Given the description of an element on the screen output the (x, y) to click on. 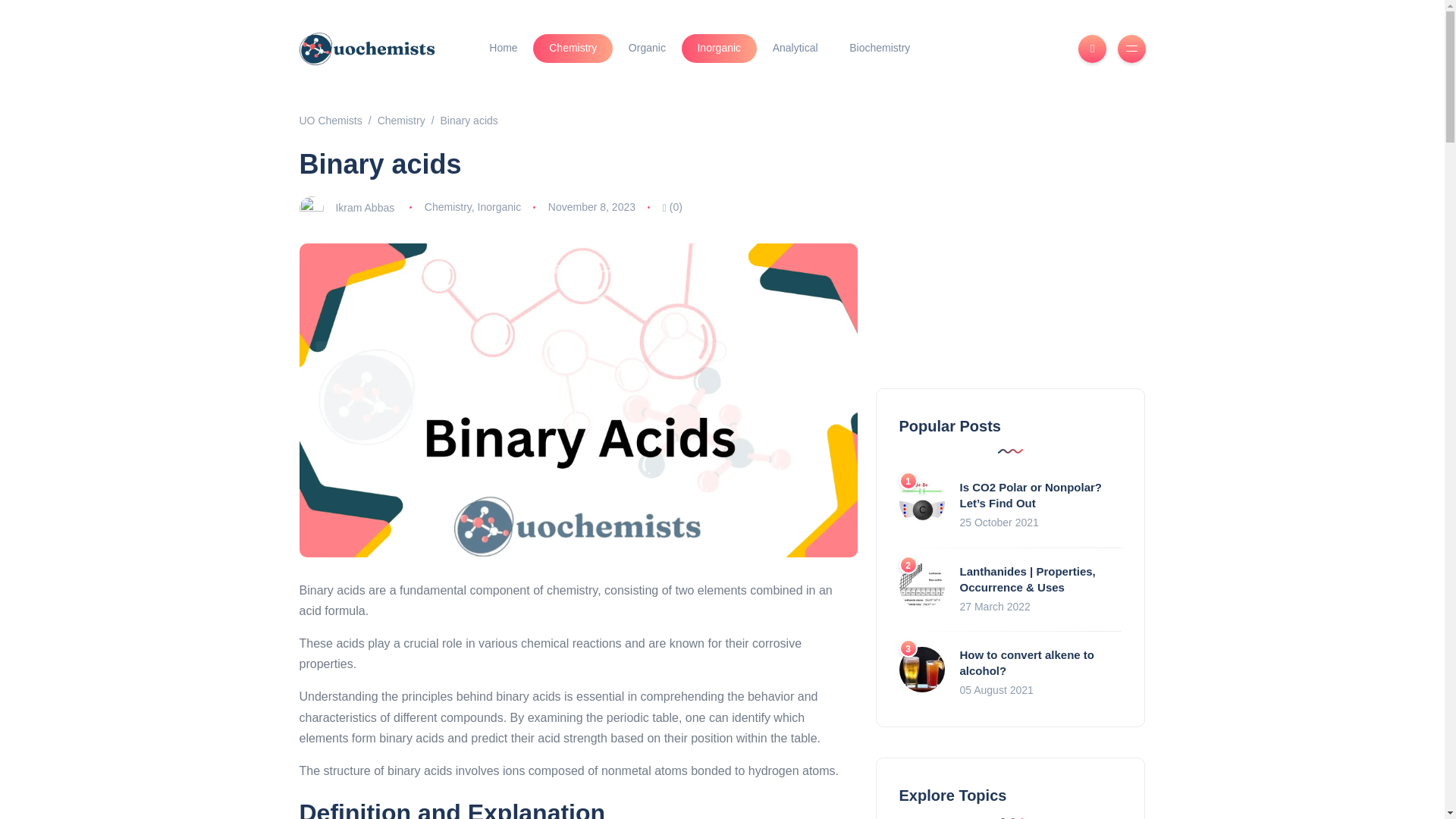
UO Chemists (329, 120)
Posts by Ikram Abbas (364, 206)
Chemistry (401, 120)
Organic (646, 48)
Go to UO Chemists. (329, 120)
Ikram Abbas (364, 206)
Advertisement (1009, 251)
Biochemistry (879, 48)
Chemistry (572, 48)
Home (502, 48)
Inorganic (719, 48)
Go to the Chemistry Category archives. (401, 120)
Analytical (795, 48)
